Given the description of an element on the screen output the (x, y) to click on. 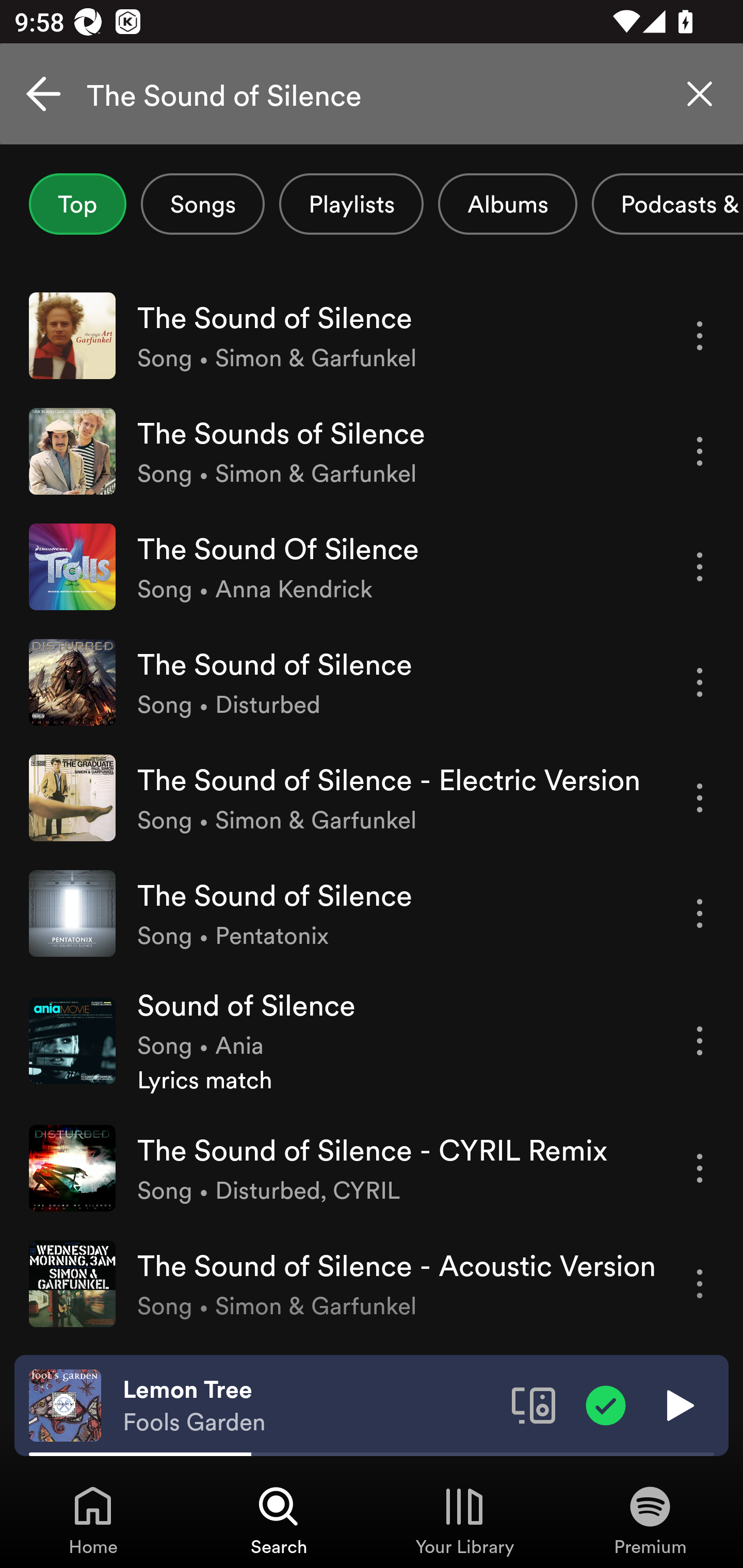
The Sound of Silence (371, 93)
Cancel (43, 93)
Clear search query (699, 93)
Top (77, 203)
Songs (202, 203)
Playlists (351, 203)
Albums (507, 203)
Podcasts & Shows (667, 203)
More options for song The Sound of Silence (699, 336)
More options for song The Sounds of Silence (699, 450)
More options for song The Sound Of Silence (699, 566)
More options for song The Sound of Silence (699, 682)
More options for song The Sound of Silence (699, 913)
More options for song Sound of Silence (699, 1040)
Lemon Tree Fools Garden (309, 1405)
The cover art of the currently playing track (64, 1404)
Connect to a device. Opens the devices menu (533, 1404)
Item added (605, 1404)
Play (677, 1404)
Home, Tab 1 of 4 Home Home (92, 1519)
Search, Tab 2 of 4 Search Search (278, 1519)
Your Library, Tab 3 of 4 Your Library Your Library (464, 1519)
Premium, Tab 4 of 4 Premium Premium (650, 1519)
